Given the description of an element on the screen output the (x, y) to click on. 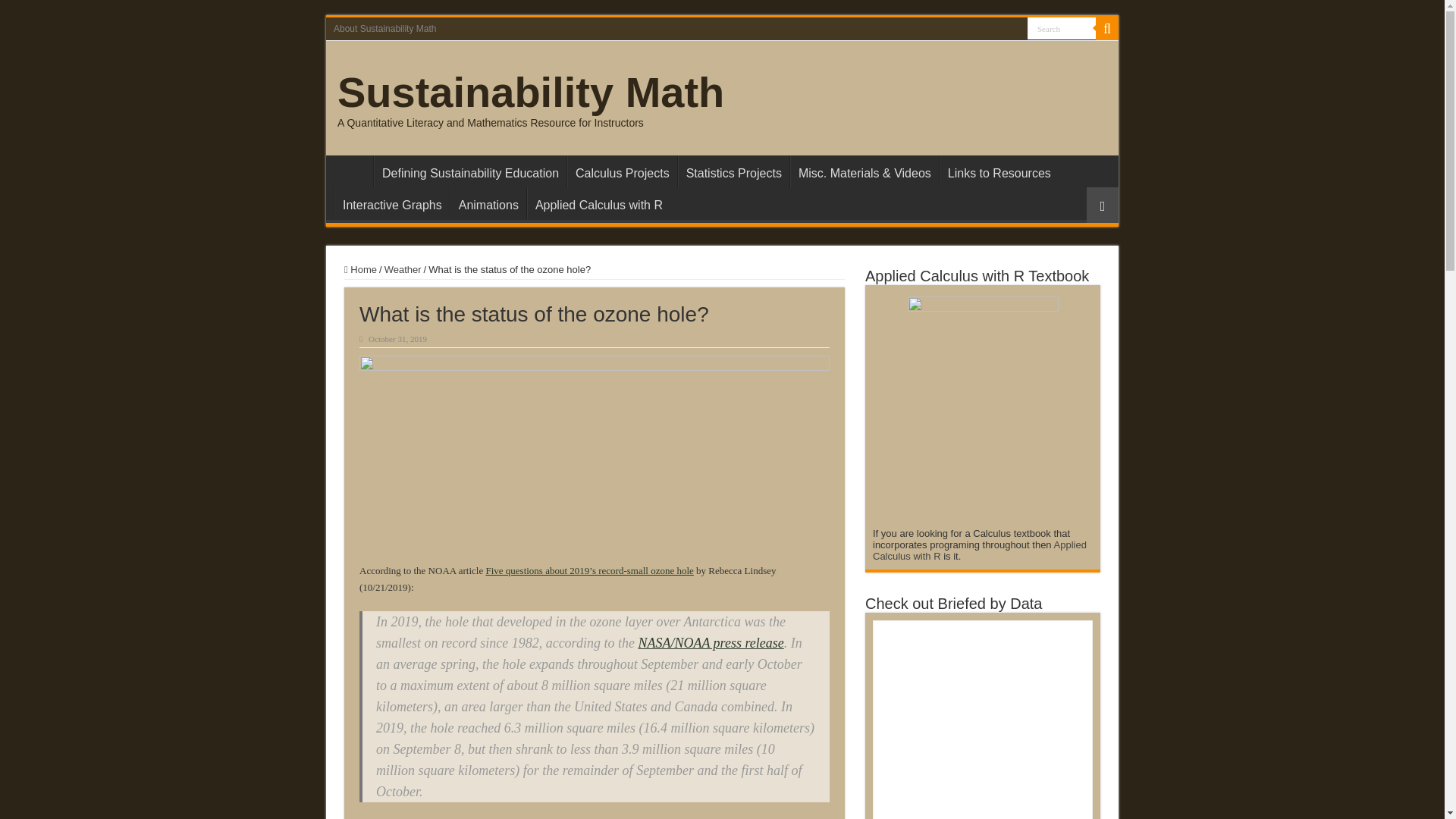
Home (360, 269)
Home (352, 171)
Search (1061, 28)
Statistics Projects (733, 171)
Applied Calculus with R (598, 203)
Sustainability Math (530, 91)
Animations (487, 203)
Links to Resources (998, 171)
Weather (403, 269)
About Sustainability Math (385, 28)
